Given the description of an element on the screen output the (x, y) to click on. 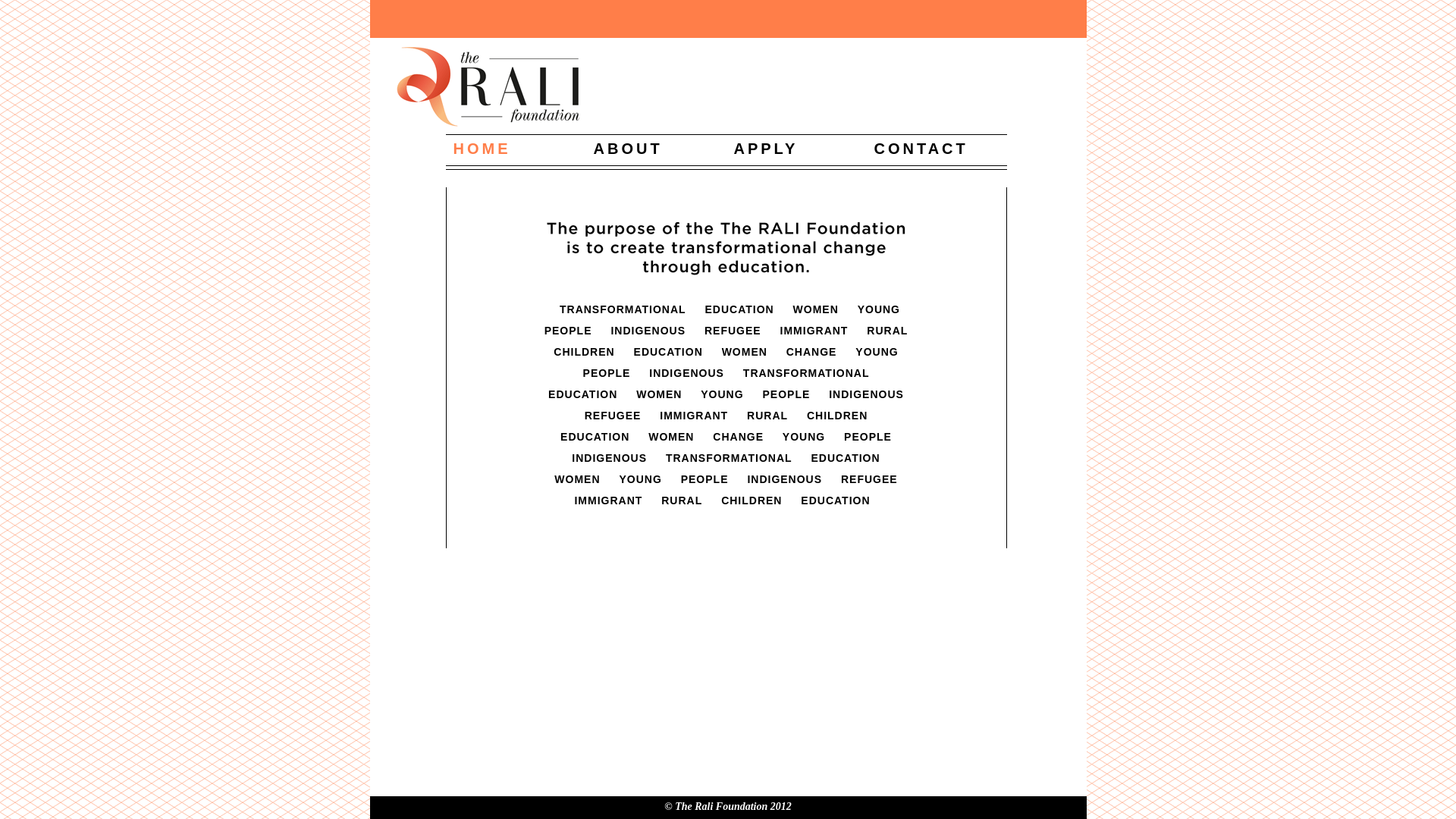
HOME Element type: text (482, 147)
The Rali Foundation Element type: text (728, 85)
ABOUT Element type: text (627, 147)
CONTACT Element type: text (920, 147)
APPLY Element type: text (766, 147)
